Given the description of an element on the screen output the (x, y) to click on. 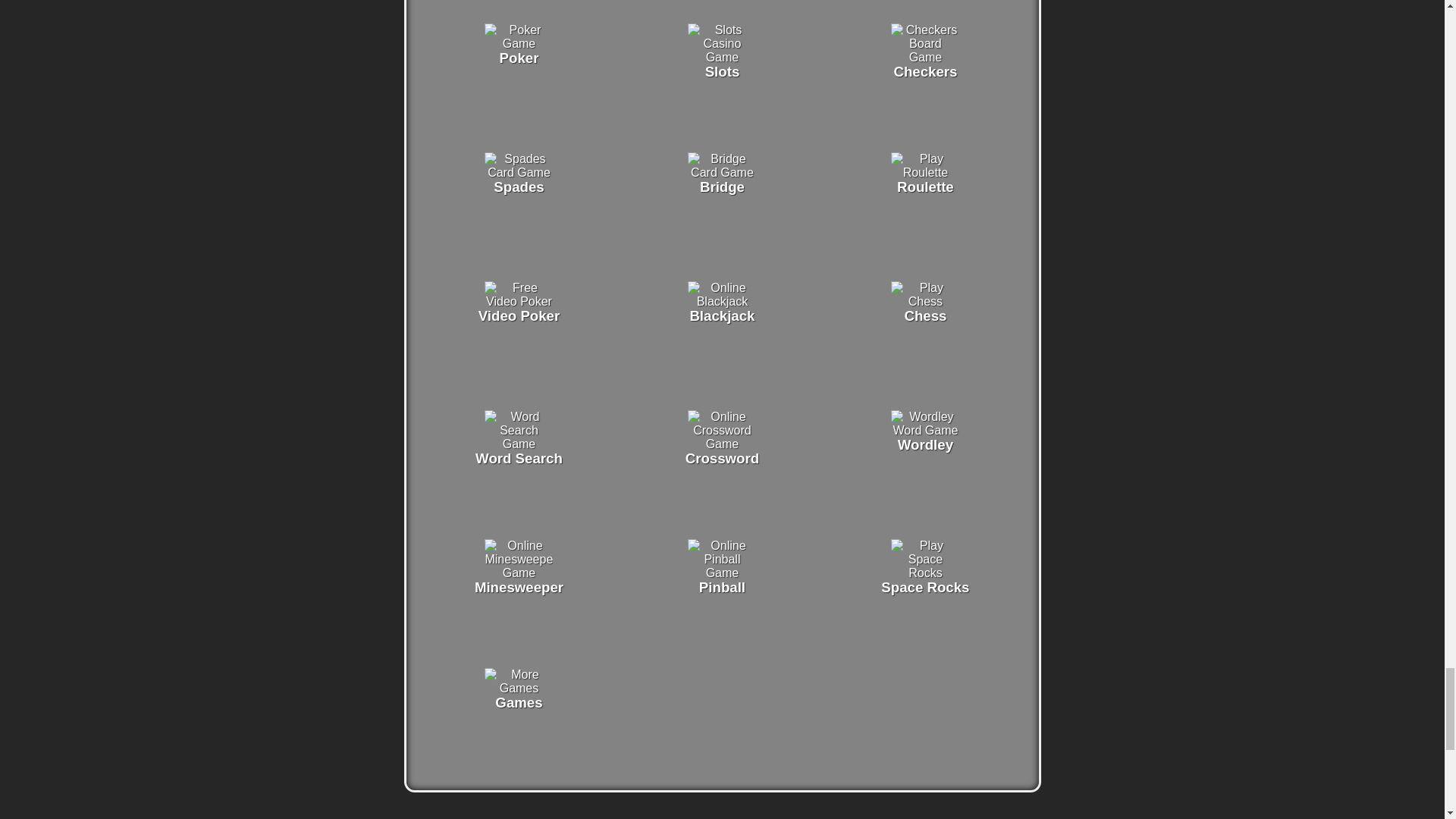
Spades (518, 172)
Wordley (925, 430)
Roulette (925, 172)
Crossword (721, 443)
Checkers (925, 56)
Bridge (721, 172)
Blackjack (721, 300)
Slots (721, 56)
Poker (518, 42)
Video Poker (518, 300)
Chess (925, 300)
Word Search (518, 443)
